Given the description of an element on the screen output the (x, y) to click on. 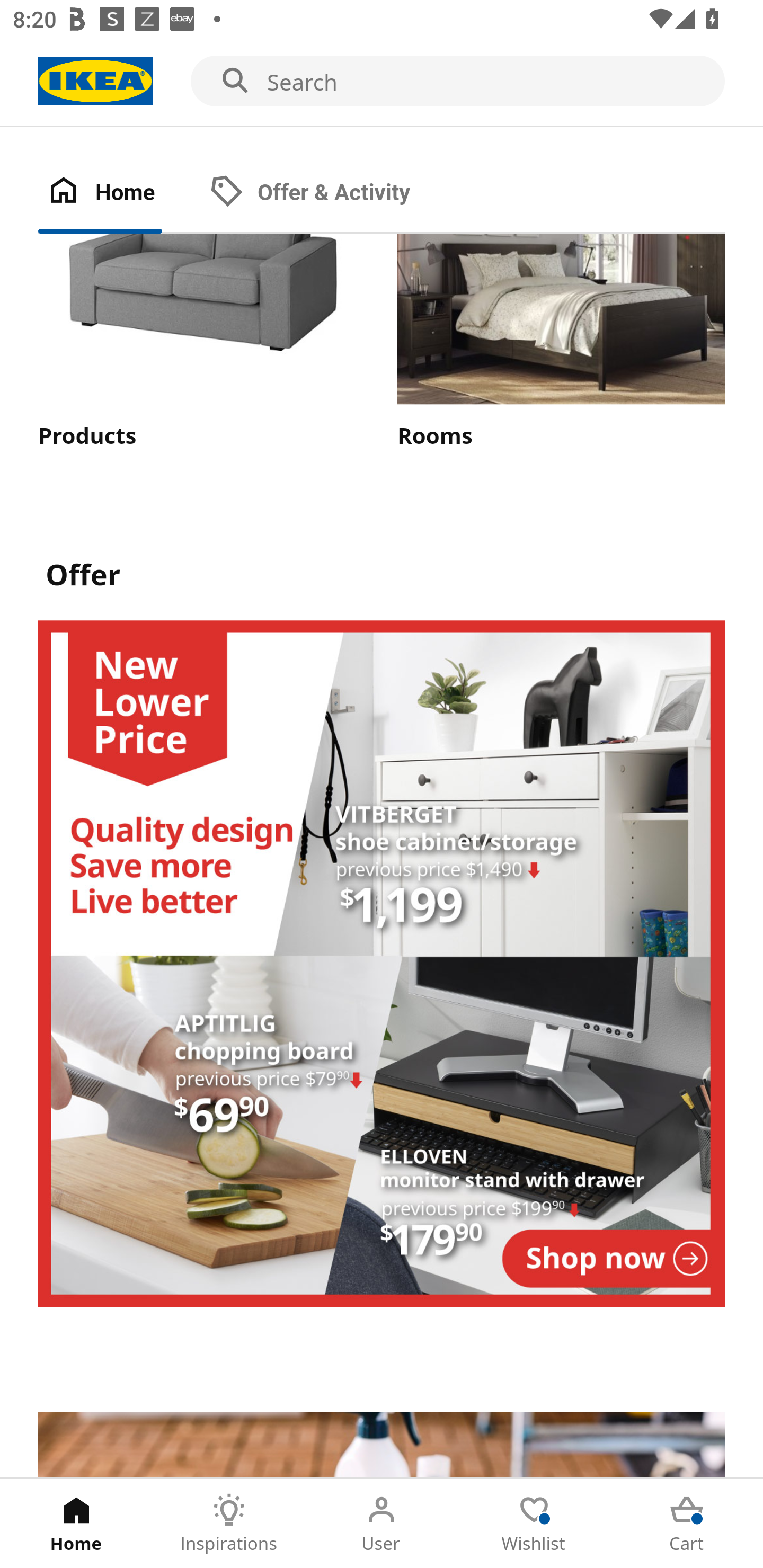
Search (381, 81)
Home
Tab 1 of 2 (118, 192)
Offer & Activity
Tab 2 of 2 (327, 192)
Products (201, 342)
Rooms (560, 342)
Home
Tab 1 of 5 (76, 1522)
Inspirations
Tab 2 of 5 (228, 1522)
User
Tab 3 of 5 (381, 1522)
Wishlist
Tab 4 of 5 (533, 1522)
Cart
Tab 5 of 5 (686, 1522)
